Given the description of an element on the screen output the (x, y) to click on. 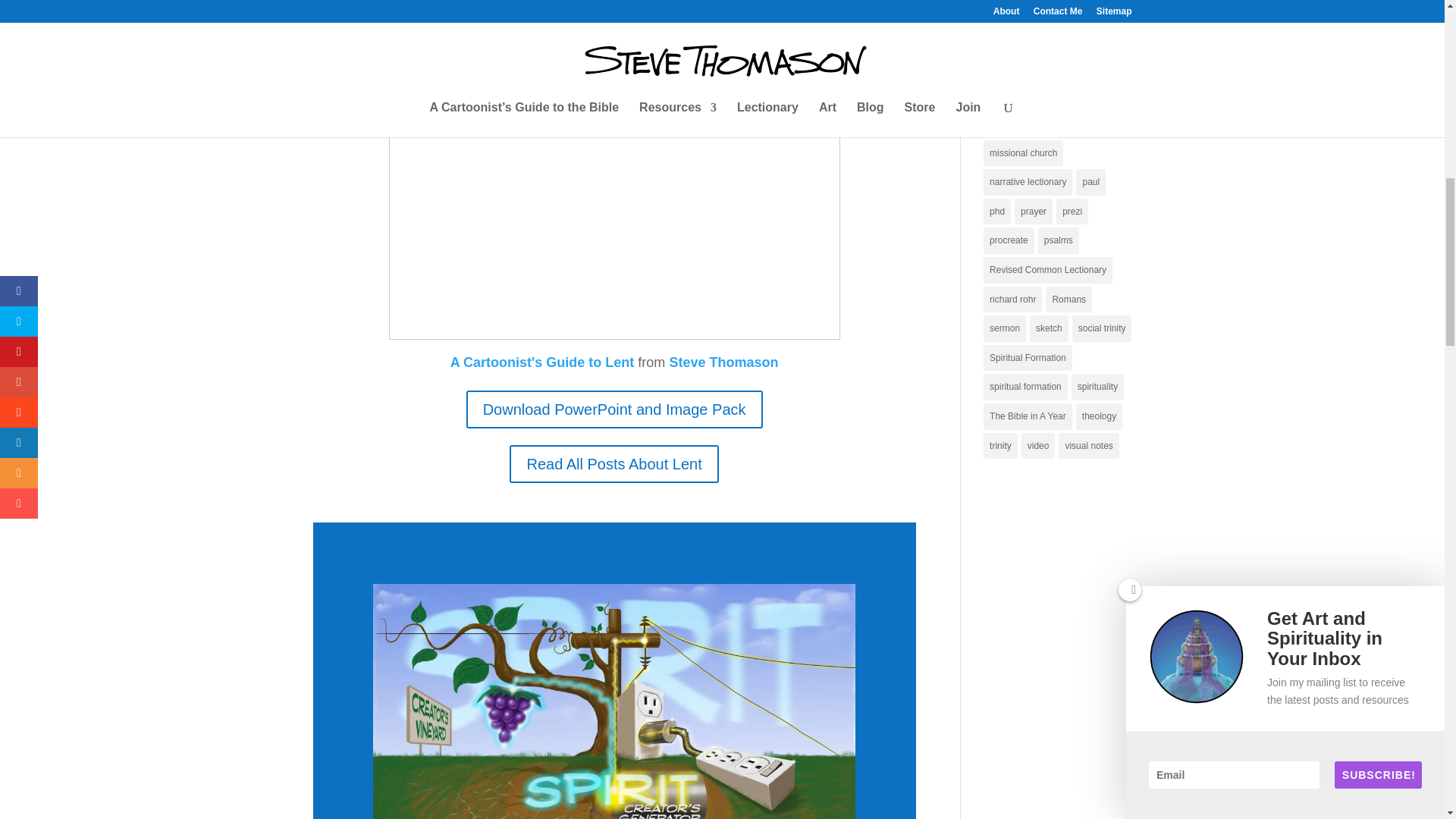
A Cartoonist's Guide to Lent (541, 362)
Steve Thomason (722, 362)
A Cartoonist's Guide to Lent (541, 362)
Vine-Power-02 (614, 701)
